Given the description of an element on the screen output the (x, y) to click on. 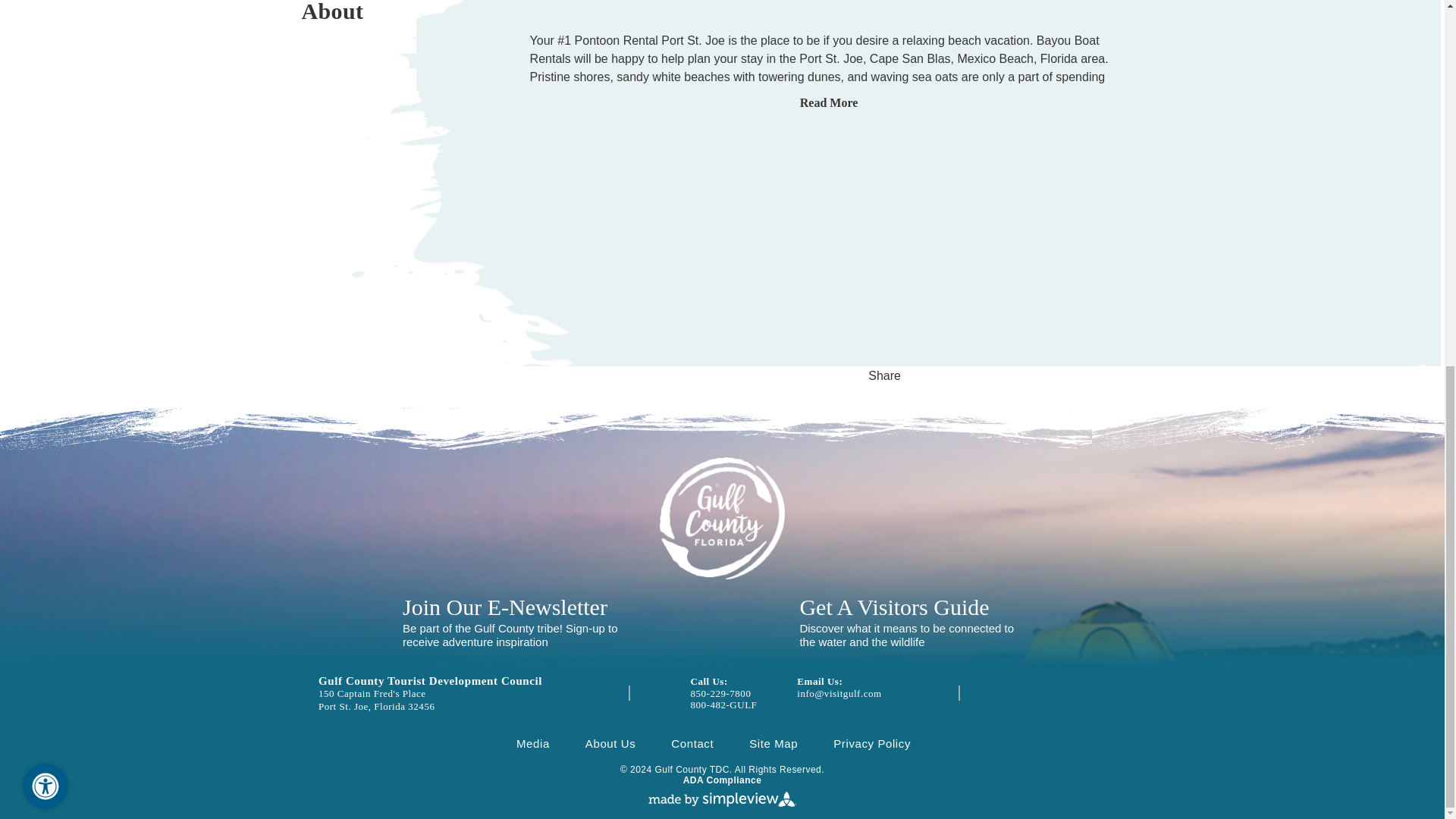
Details (339, 18)
Site Map (773, 743)
Media (533, 743)
About Us (610, 743)
Contact (692, 743)
Privacy Policy (871, 743)
